Given the description of an element on the screen output the (x, y) to click on. 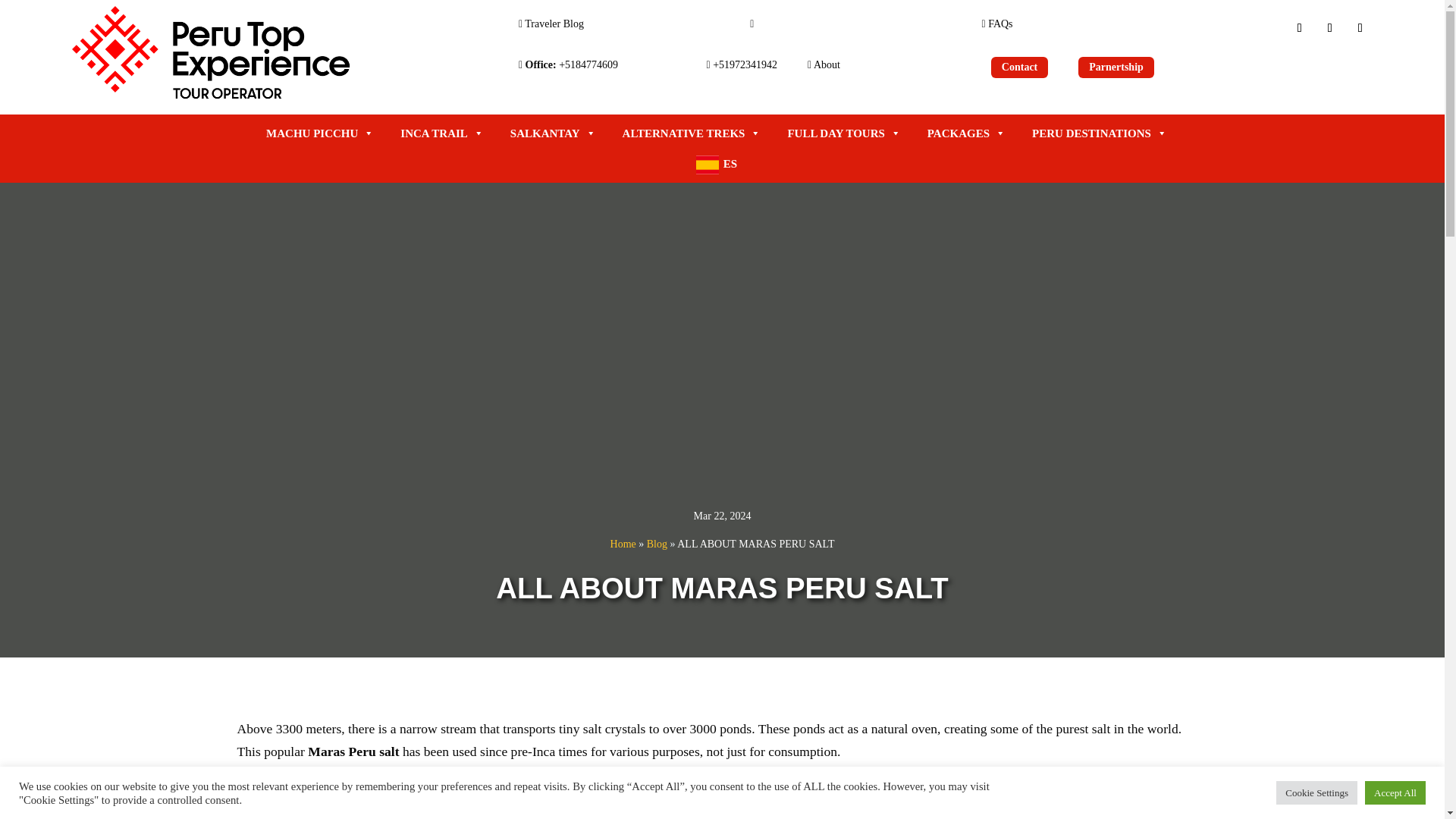
ALTERNATIVE TREKS (691, 132)
Follow on Instagram (1329, 27)
Contact (1019, 66)
MACHU PICCHU (320, 132)
Follow on TikTok (1360, 27)
Follow on Facebook (1299, 27)
INCA TRAIL (442, 132)
Parnertship (1116, 66)
Logo-Top-Peru (212, 54)
SALKANTAY (553, 132)
